Given the description of an element on the screen output the (x, y) to click on. 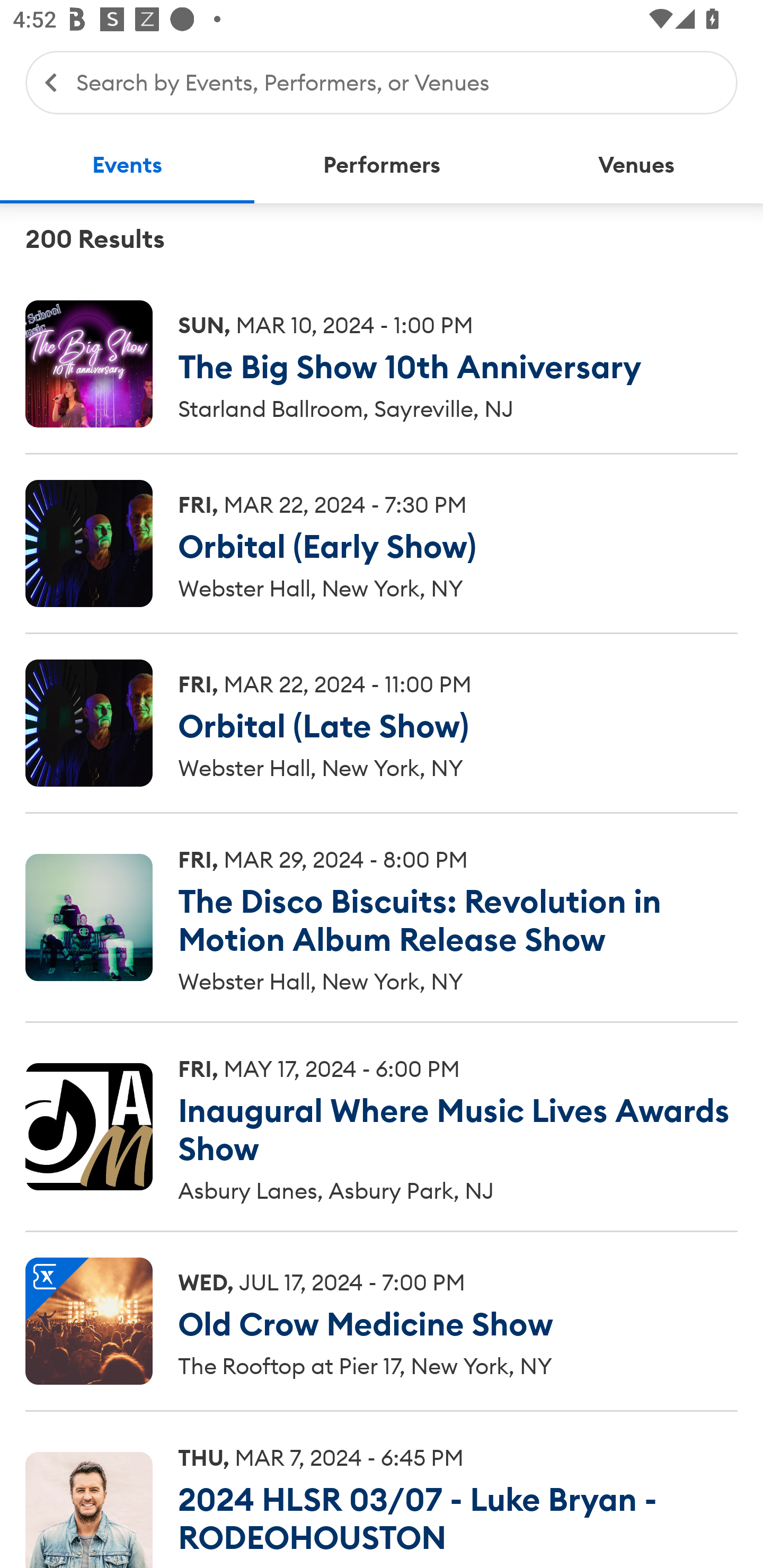
Performers (381, 165)
Venues (635, 165)
